Given the description of an element on the screen output the (x, y) to click on. 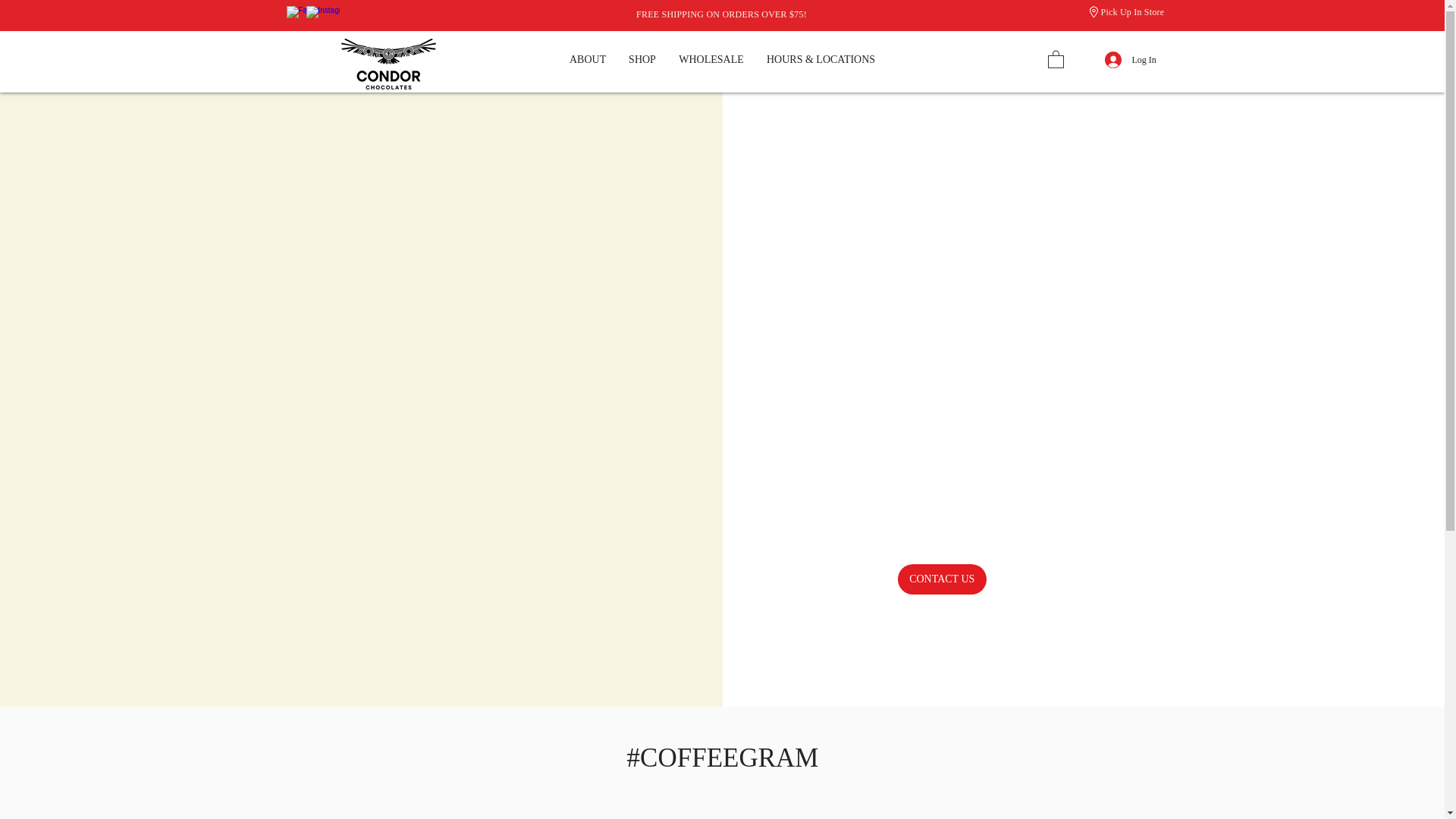
CONTACT US (942, 579)
Pick Up In Store (1132, 10)
SHOP (641, 60)
Log In (1112, 59)
